Given the description of an element on the screen output the (x, y) to click on. 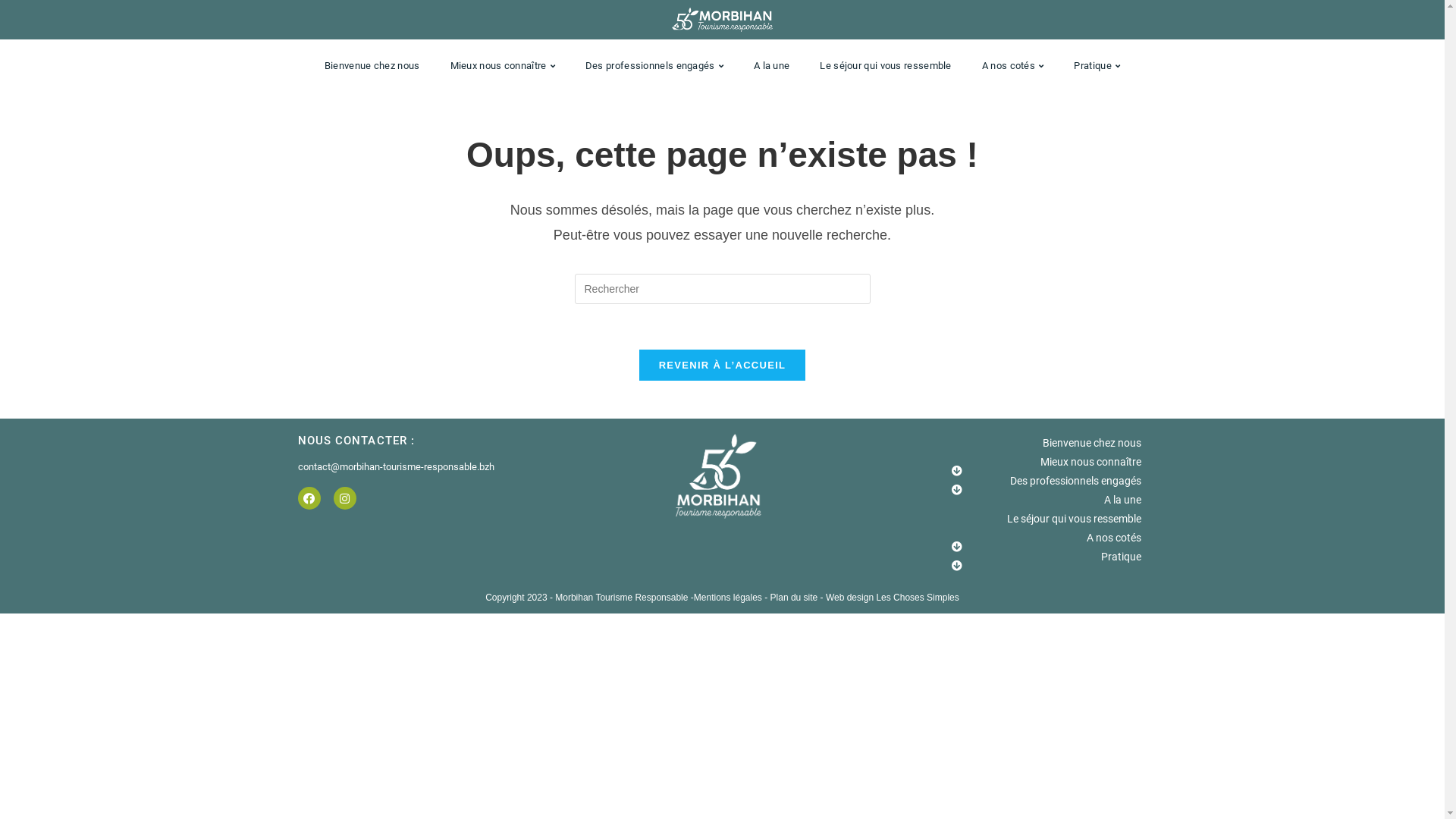
A la une Element type: text (771, 65)
A la une Element type: text (1039, 499)
Plan du site Element type: text (795, 597)
Les Choses Simples Element type: text (916, 597)
Bienvenue chez nous Element type: text (372, 65)
Pratique Element type: text (1039, 556)
Pratique Element type: text (1096, 65)
Bienvenue chez nous Element type: text (1039, 442)
